Given the description of an element on the screen output the (x, y) to click on. 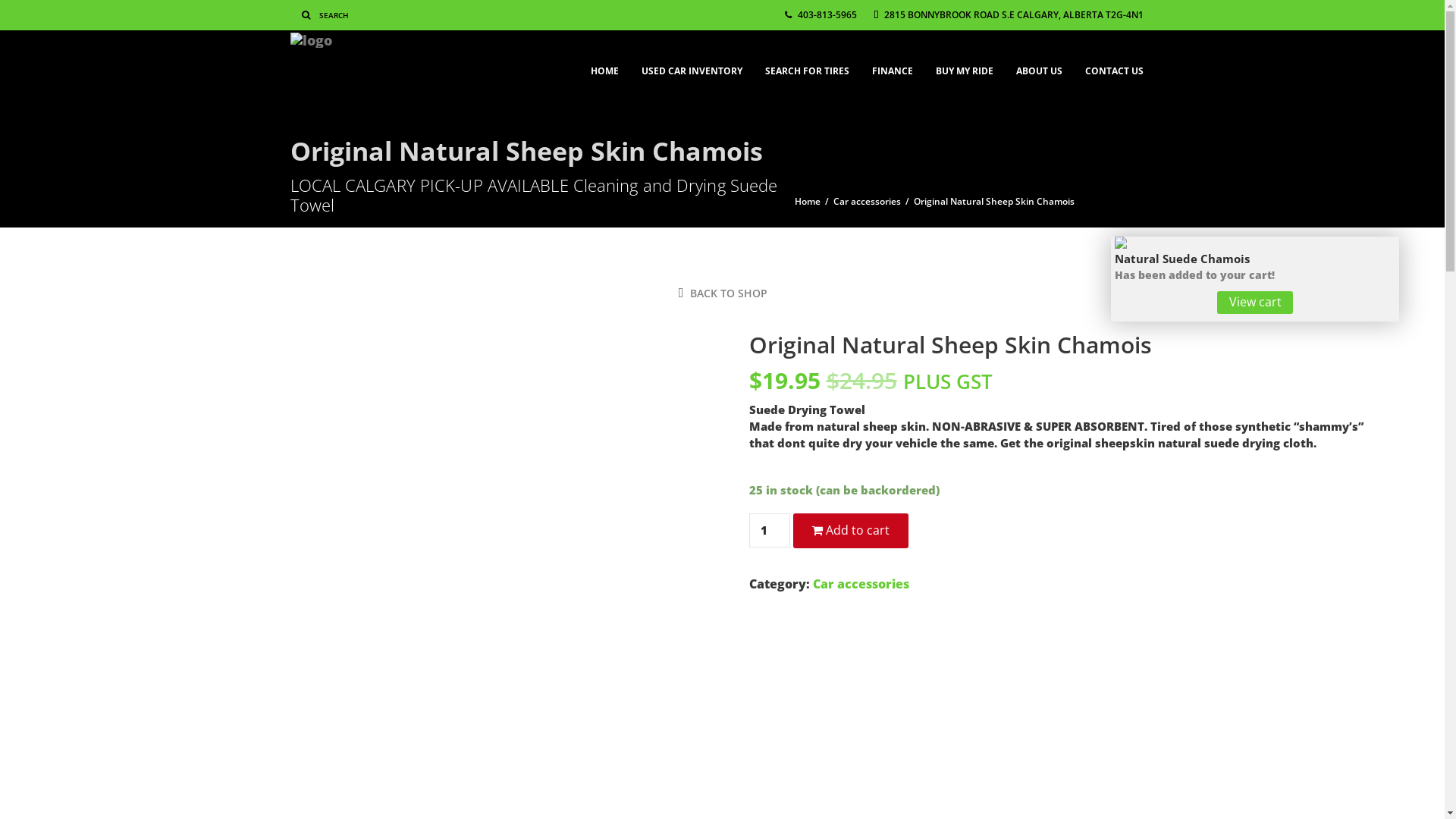
HOME Element type: text (604, 63)
2815 BONNYBROOK ROAD S.E CALGARY, ALBERTA T2G-4N1 Element type: text (1008, 14)
View cart Element type: text (1254, 302)
ABOUT US Element type: text (1038, 63)
BUY MY RIDE Element type: text (963, 63)
Add to cart Element type: text (850, 530)
FINANCE Element type: text (891, 63)
Qty Element type: hover (769, 530)
Home Element type: text (807, 201)
Car accessories Element type: text (866, 201)
SEARCH FOR TIRES Element type: text (806, 63)
BACK TO SHOP Element type: text (722, 292)
Car accessories Element type: text (860, 583)
USED CAR INVENTORY Element type: text (691, 63)
403-813-5965 Element type: text (820, 14)
CONTACT US Element type: text (1113, 63)
